Given the description of an element on the screen output the (x, y) to click on. 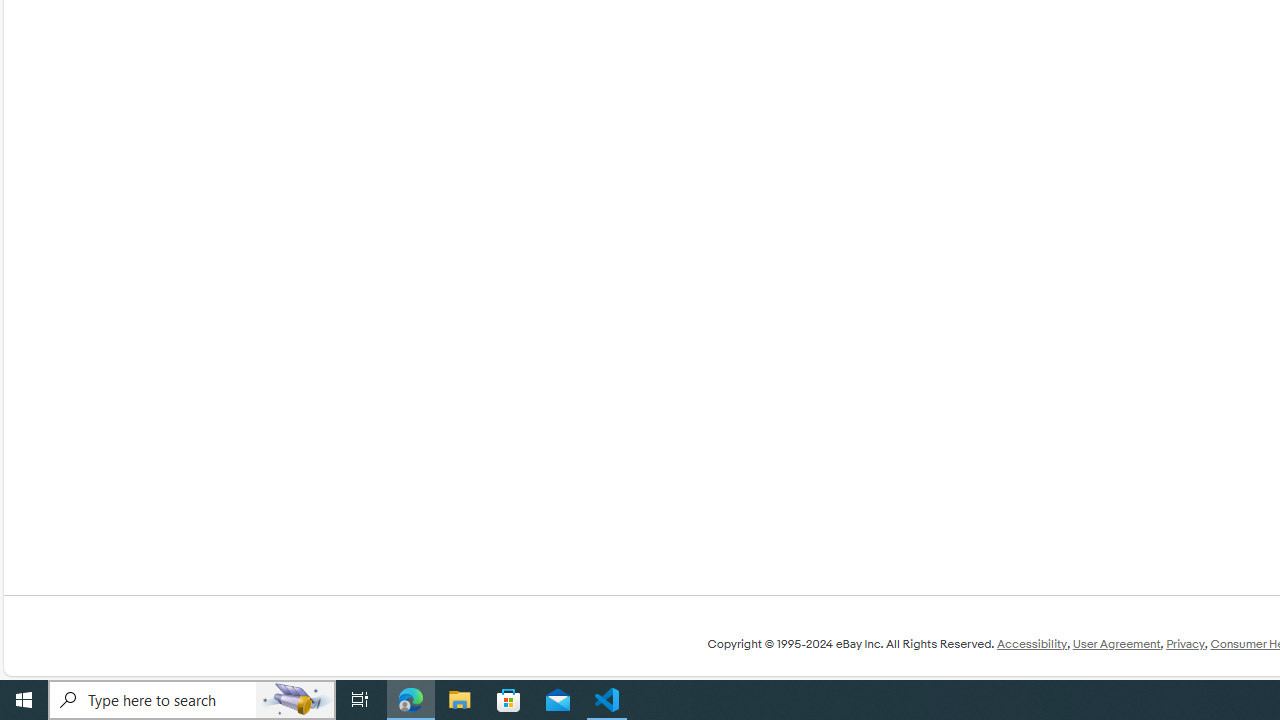
Accessibility (1031, 644)
User Agreement (1116, 644)
